Given the description of an element on the screen output the (x, y) to click on. 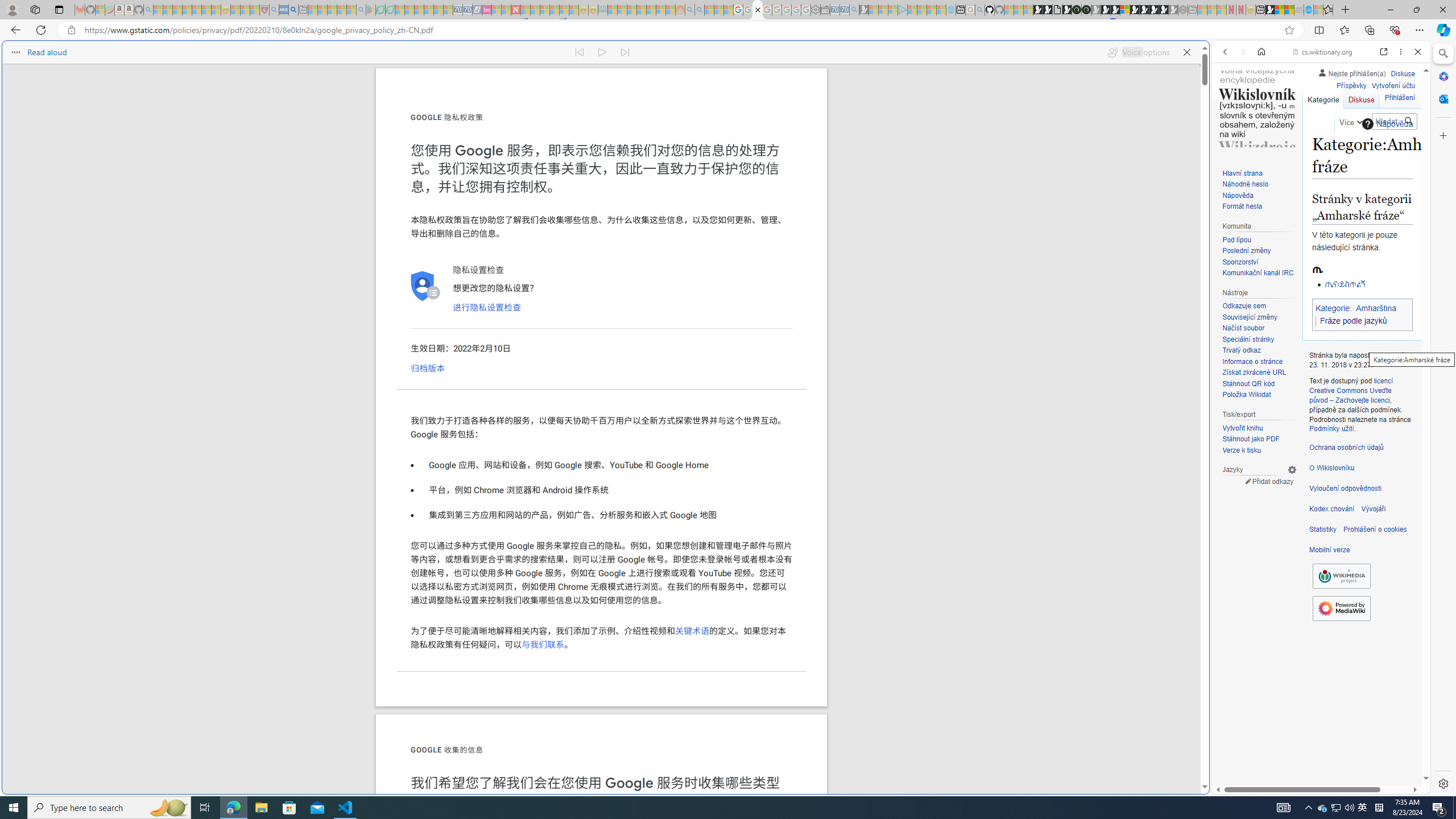
DITOGAMES AG Imprint - Sleeping (602, 9)
Powered by MediaWiki (1341, 607)
World - MSN (1279, 9)
